Given the description of an element on the screen output the (x, y) to click on. 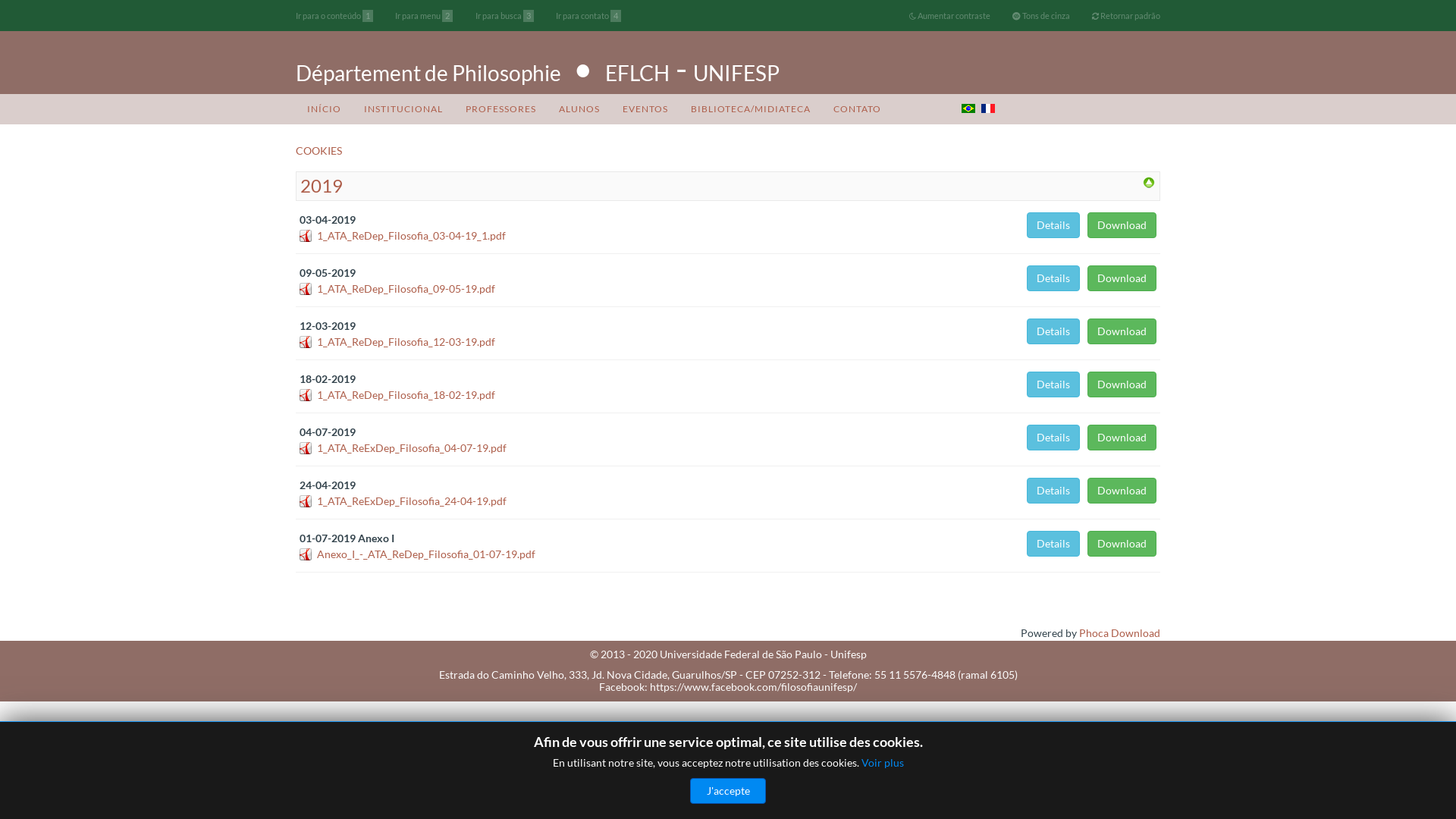
1_ATA_ReDep_Filosofia_12-03-19.pdf Element type: text (405, 341)
ALUNOS Element type: text (579, 109)
Download Element type: text (1121, 543)
1_ATA_ReExDep_Filosofia_04-07-19.pdf Element type: text (411, 447)
Download Element type: text (1121, 331)
Ir para busca 3 Element type: text (503, 15)
Details Element type: text (1052, 331)
Download Element type: text (1121, 490)
Voir plus Element type: text (882, 762)
1_ATA_ReExDep_Filosofia_24-04-19.pdf Element type: text (411, 500)
https://www.facebook.com/filosofiaunifesp/ Element type: text (752, 686)
Download Element type: text (1121, 278)
BIBLIOTECA/MIDIATECA Element type: text (750, 109)
Details Element type: text (1052, 384)
1_ATA_ReDep_Filosofia_18-02-19.pdf Element type: text (405, 394)
Tons de cinza Element type: text (1041, 15)
EVENTOS Element type: text (645, 109)
Download Element type: text (1121, 437)
Details Element type: text (1052, 437)
EFLCH Element type: text (637, 72)
Phoca Download Element type: text (1119, 632)
PROFESSORES Element type: text (500, 109)
UNIFESP Element type: text (736, 72)
Anexo_I_-_ATA_ReDep_Filosofia_01-07-19.pdf Element type: text (425, 553)
Ir para contato 4 Element type: text (588, 15)
INSTITUCIONAL Element type: text (403, 109)
Ir para menu 2 Element type: text (423, 15)
1_ATA_ReDep_Filosofia_09-05-19.pdf Element type: text (405, 288)
Details Element type: text (1052, 278)
1_ATA_ReDep_Filosofia_03-04-19_1.pdf Element type: text (410, 235)
Download Element type: text (1121, 384)
CONTATO Element type: text (857, 109)
Download Element type: text (1121, 225)
Details Element type: text (1052, 543)
Aumentar contraste Element type: text (948, 15)
Details Element type: text (1052, 225)
Details Element type: text (1052, 490)
